Given the description of an element on the screen output the (x, y) to click on. 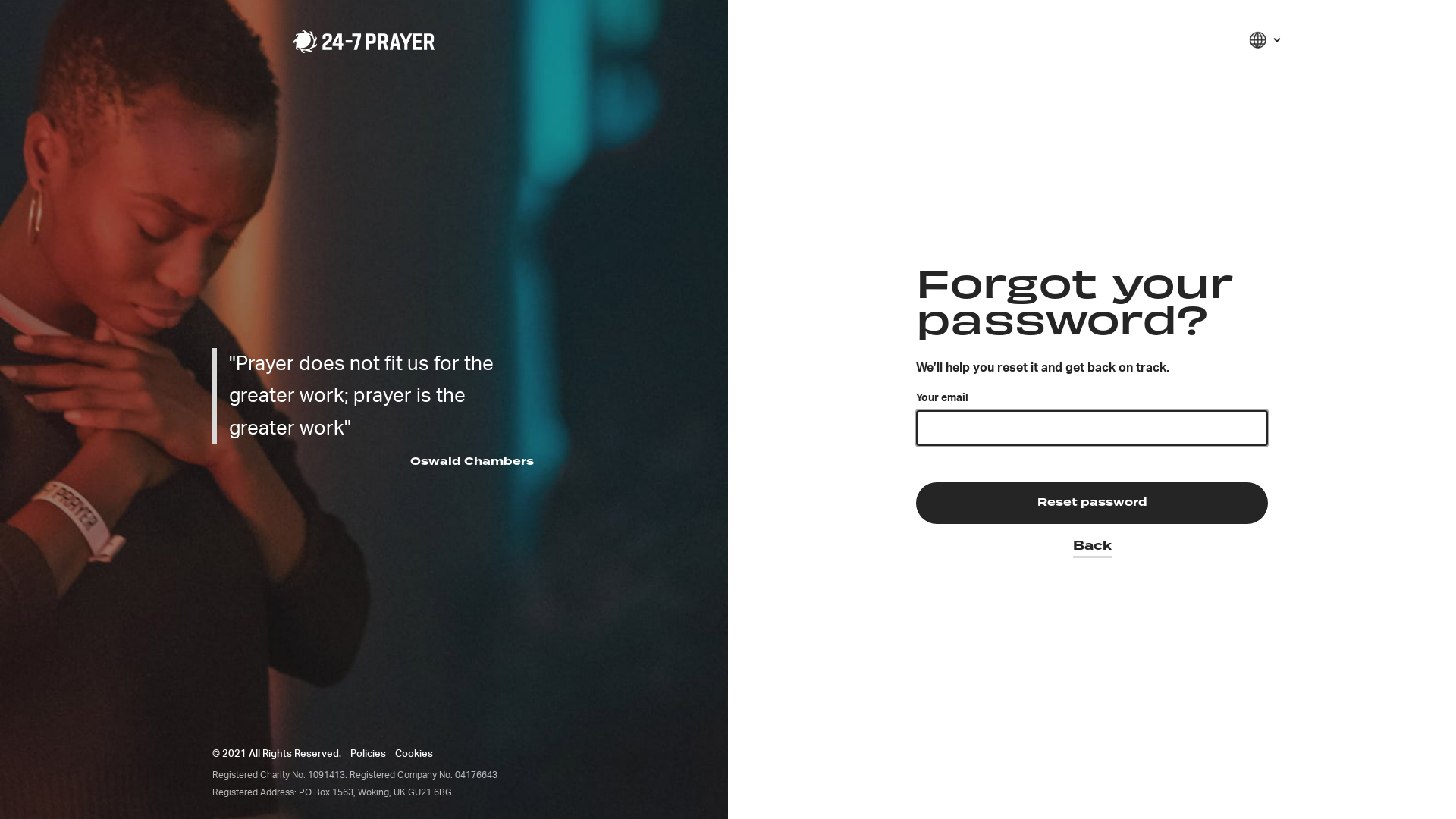
Back Element type: text (1091, 541)
Policies Element type: text (367, 754)
Reset password Element type: text (1091, 502)
Cookies Element type: text (414, 754)
